Given the description of an element on the screen output the (x, y) to click on. 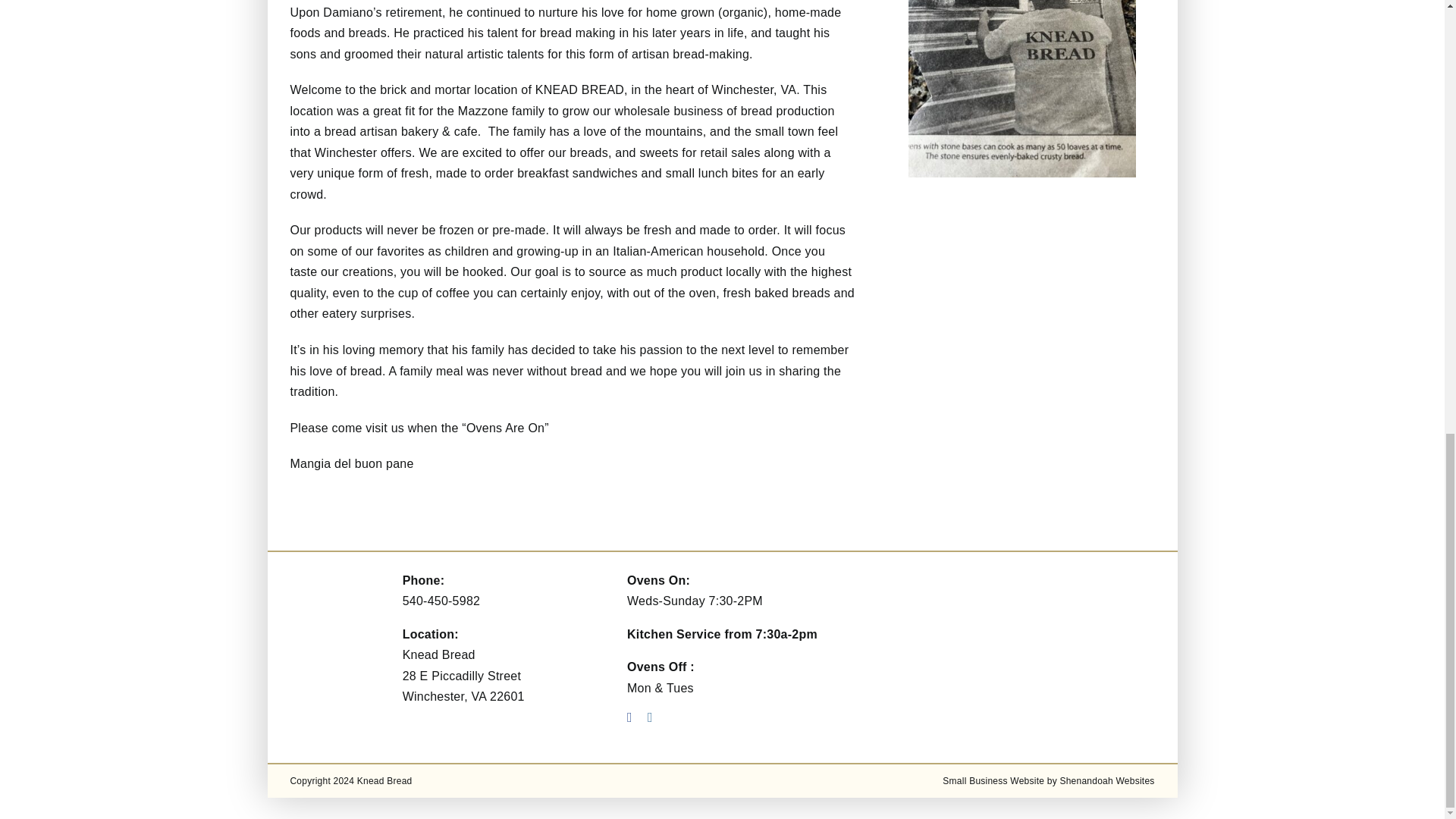
Small Business Website (992, 780)
